Given the description of an element on the screen output the (x, y) to click on. 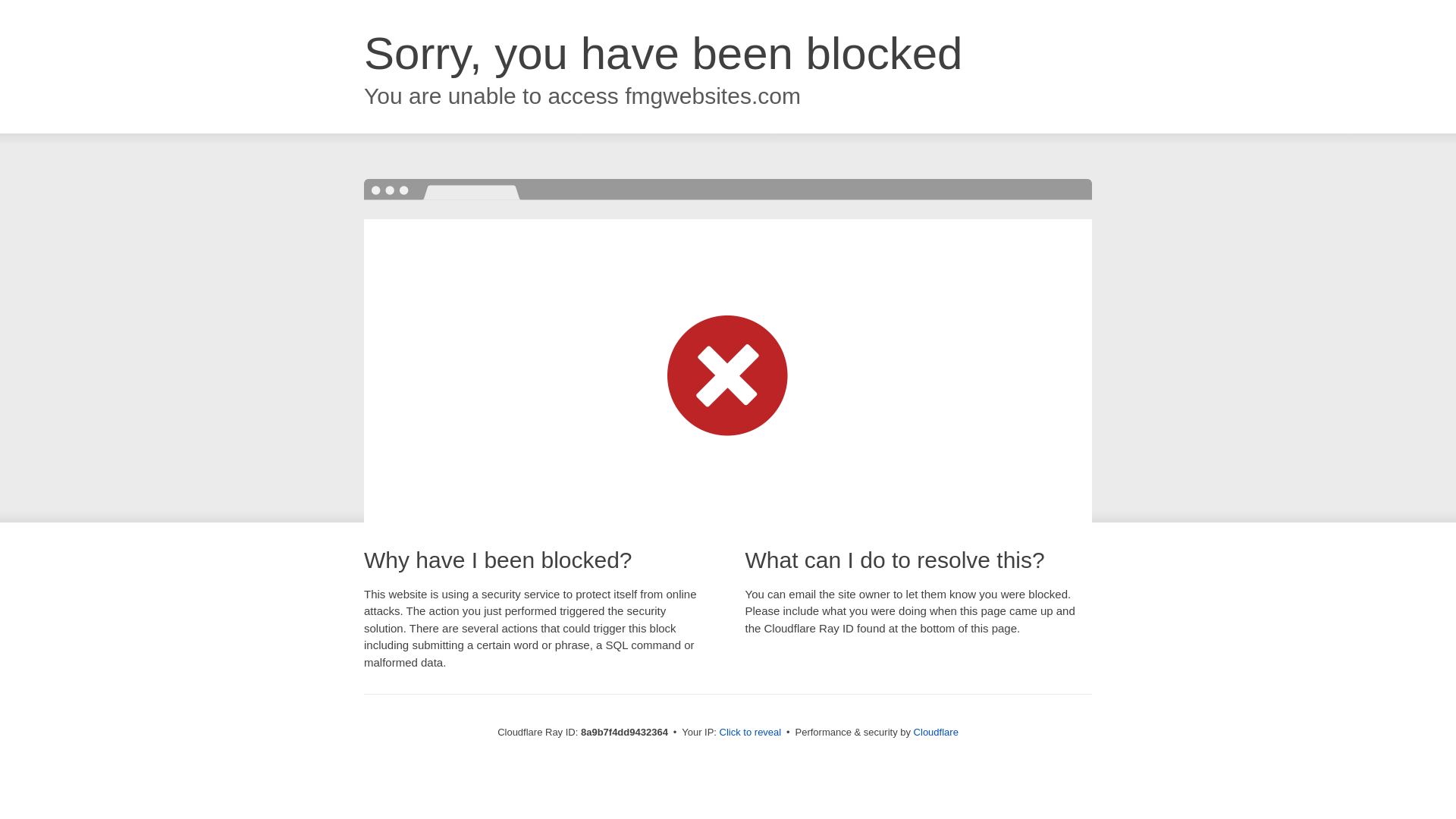
Click to reveal (750, 732)
Cloudflare (936, 731)
